Given the description of an element on the screen output the (x, y) to click on. 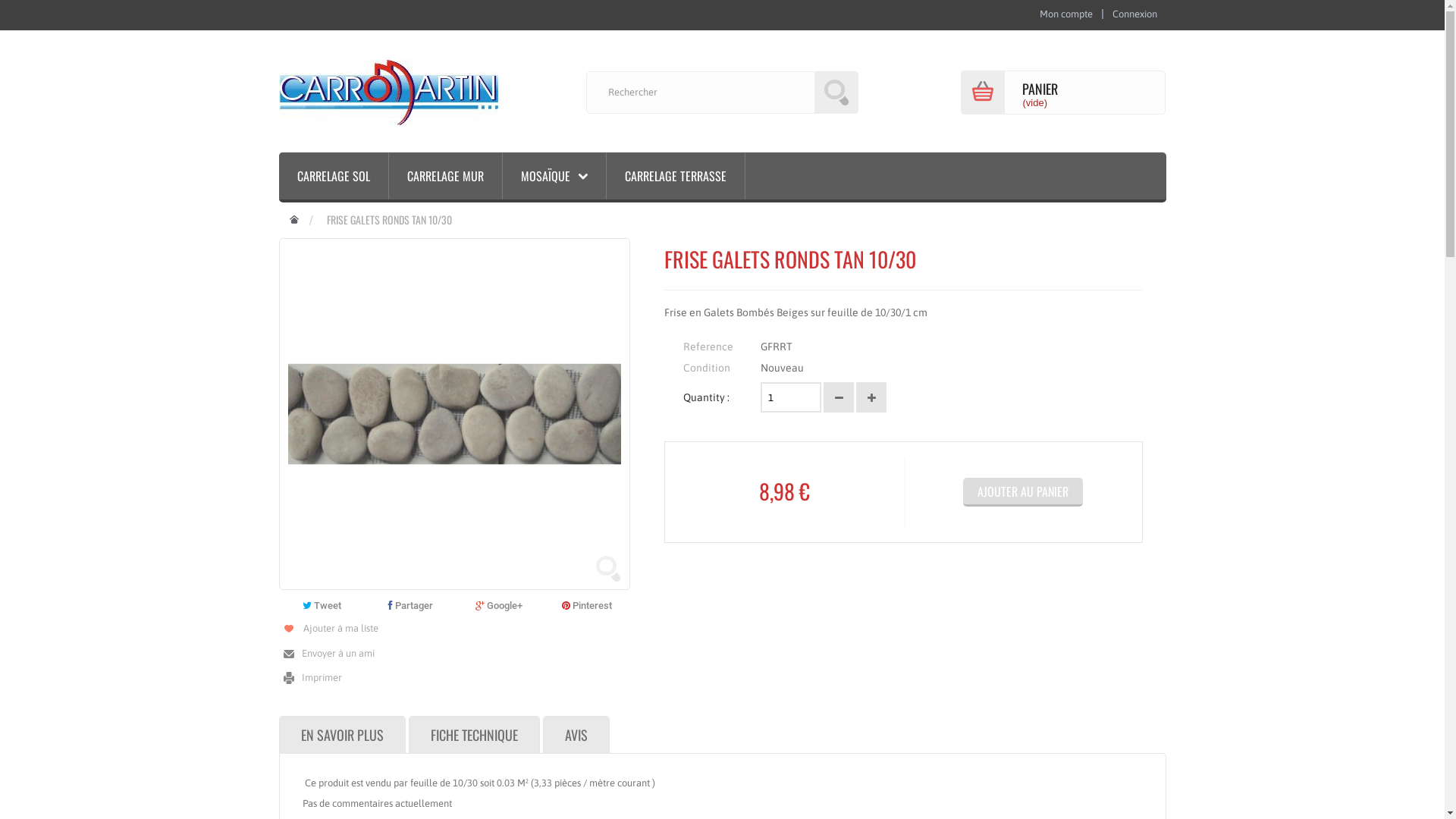
Connexion Element type: text (1133, 13)
Imprimer Element type: text (310, 677)
FRISE GALETS RONDS TAN  10/30 Element type: hover (454, 413)
Rechercher Element type: text (836, 92)
Google+ Element type: text (498, 605)
Tweet Element type: text (322, 605)
PANIER
(vide) Element type: text (1062, 91)
CARRELAGE TERRASSE Element type: text (675, 175)
CARRELAGE SOL Element type: text (333, 175)
AJOUTER AU PANIER Element type: text (1022, 491)
Carromartin Element type: hover (388, 91)
CARRELAGE MUR Element type: text (444, 175)
FICHE TECHNIQUE Element type: text (473, 734)
Pinterest Element type: text (587, 605)
EN SAVOIR PLUS Element type: text (342, 734)
AVIS Element type: text (575, 734)
Mon compte Element type: text (1065, 13)
Partager Element type: text (410, 605)
